Given the description of an element on the screen output the (x, y) to click on. 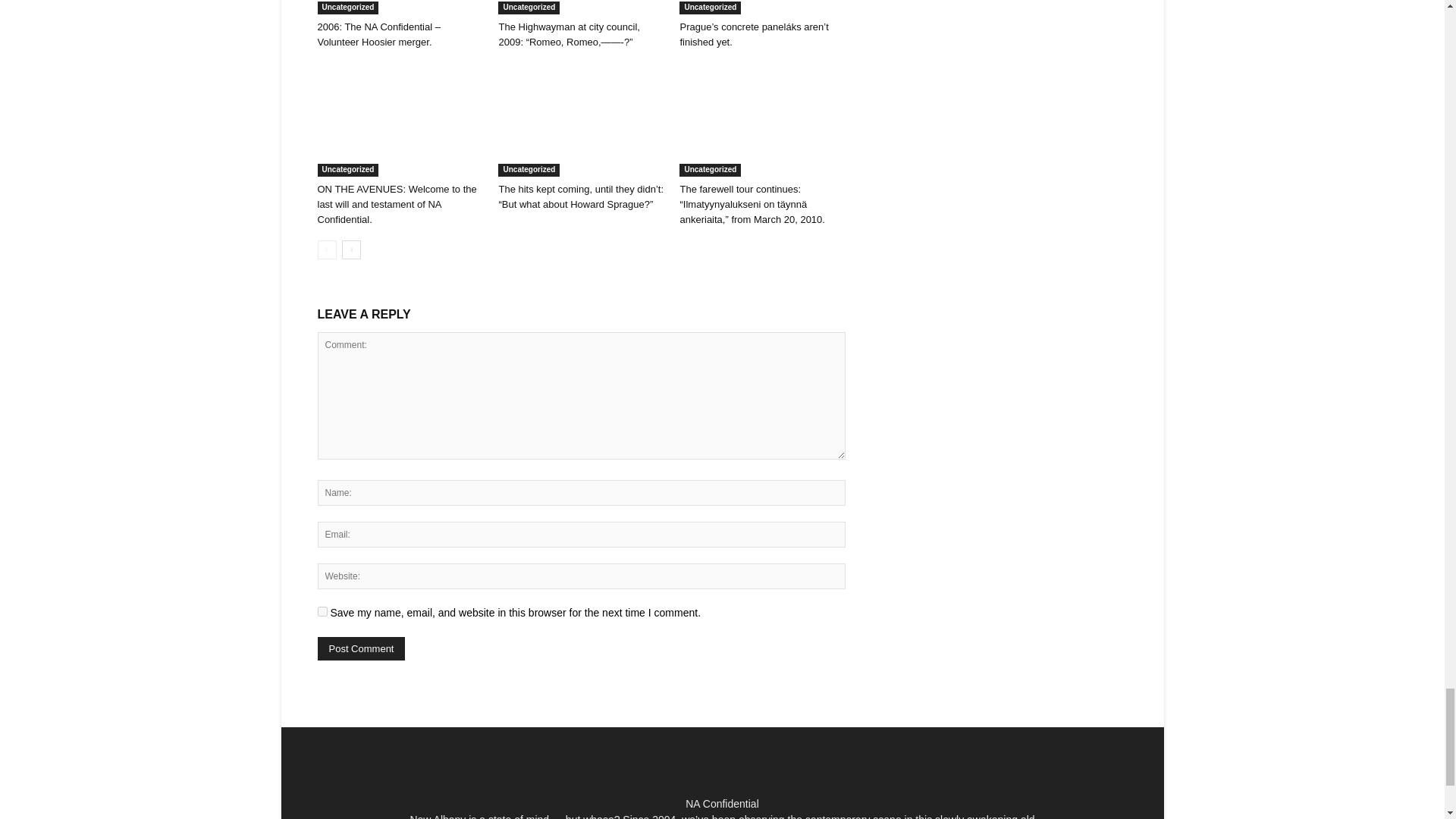
yes (321, 611)
Post Comment (360, 648)
